Given the description of an element on the screen output the (x, y) to click on. 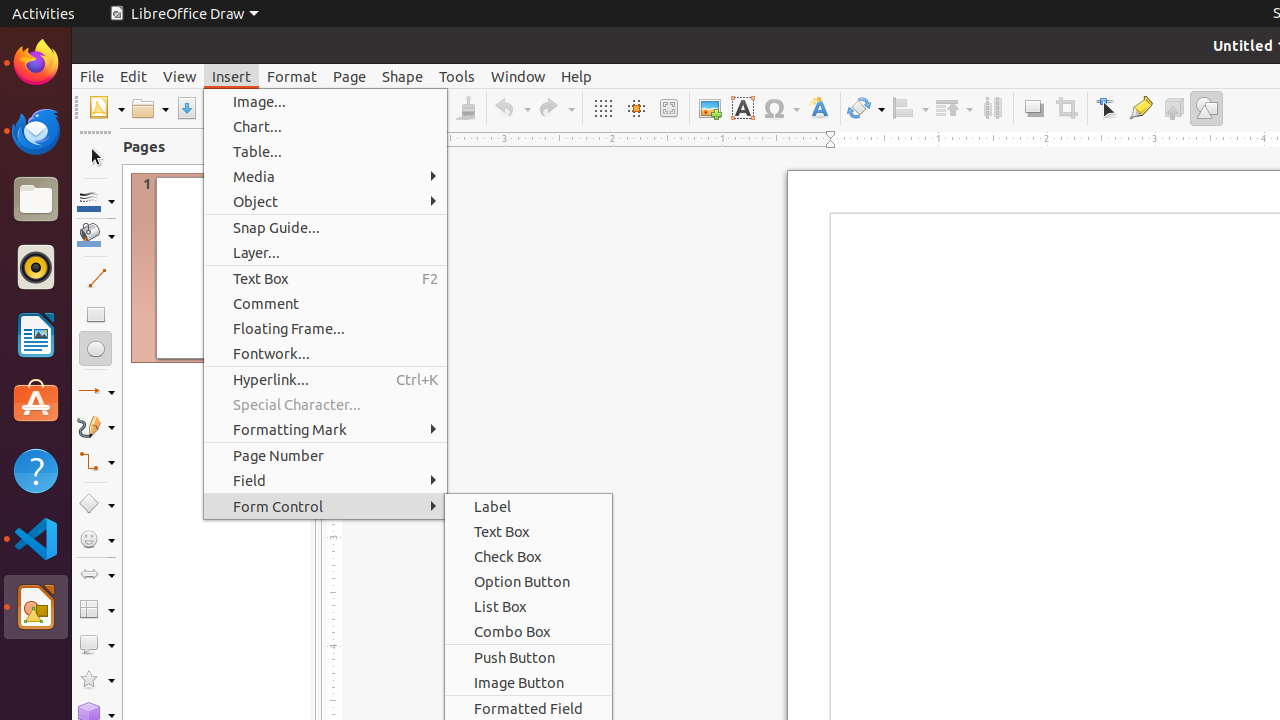
Line Color Element type: push-button (96, 200)
Insert Element type: menu (231, 76)
View Element type: menu (179, 76)
Snap Guide... Element type: menu-item (325, 227)
Page Number Element type: menu-item (325, 455)
